Given the description of an element on the screen output the (x, y) to click on. 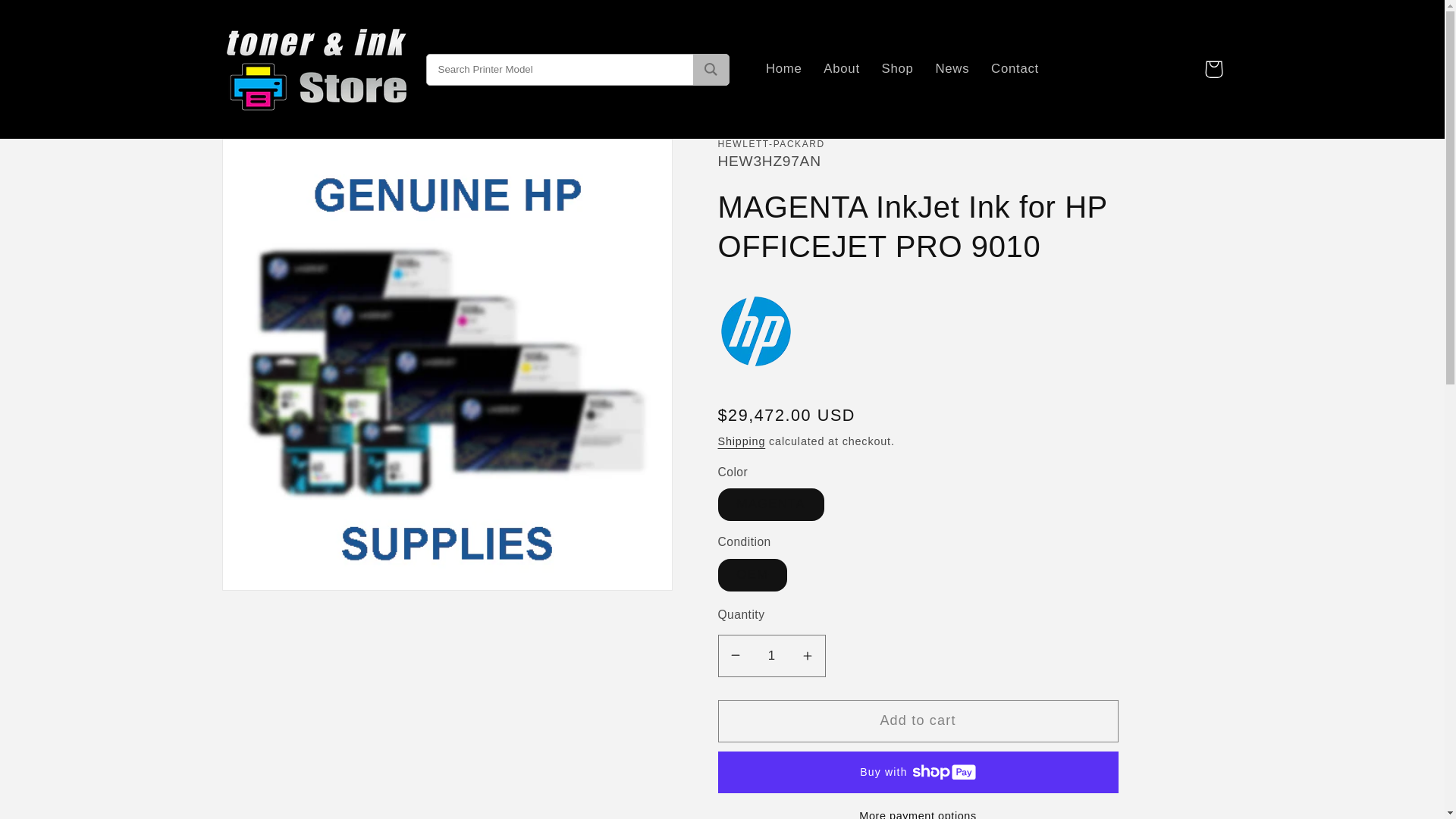
Cart (1213, 69)
Contact (1014, 69)
Add to cart (917, 721)
Skip to content (55, 20)
News (951, 69)
Skip to product information (276, 159)
Shipping (741, 440)
1 (771, 655)
Home (783, 69)
Shop (897, 69)
More payment options (917, 813)
About (841, 69)
